Given the description of an element on the screen output the (x, y) to click on. 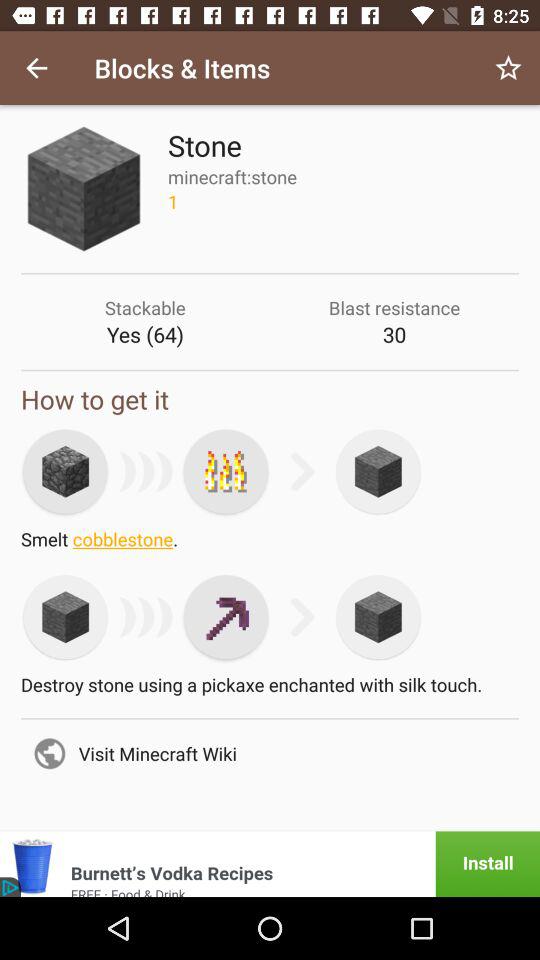
select option (226, 471)
